Given the description of an element on the screen output the (x, y) to click on. 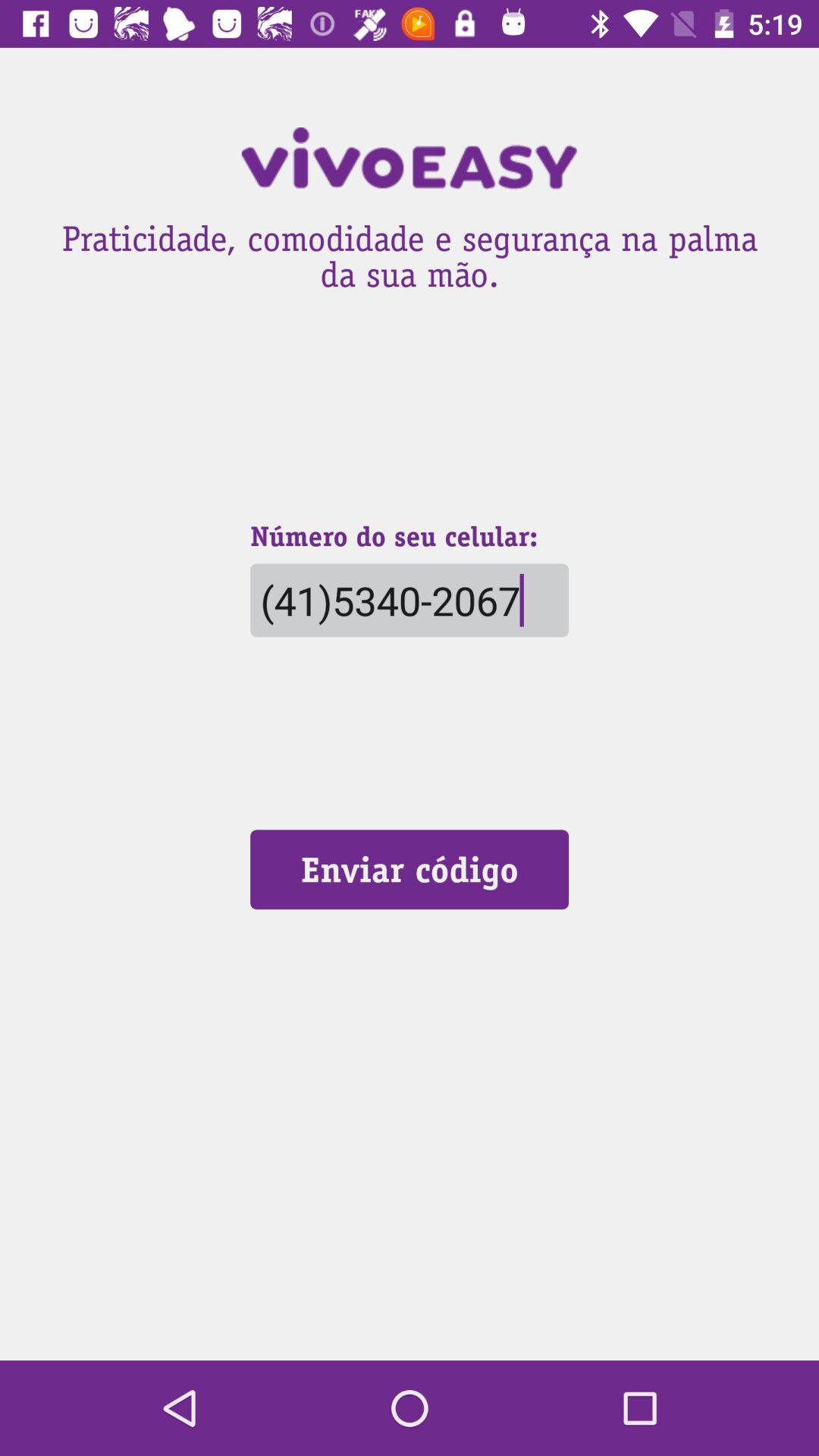
choose the praticidade comodidade e icon (409, 251)
